Given the description of an element on the screen output the (x, y) to click on. 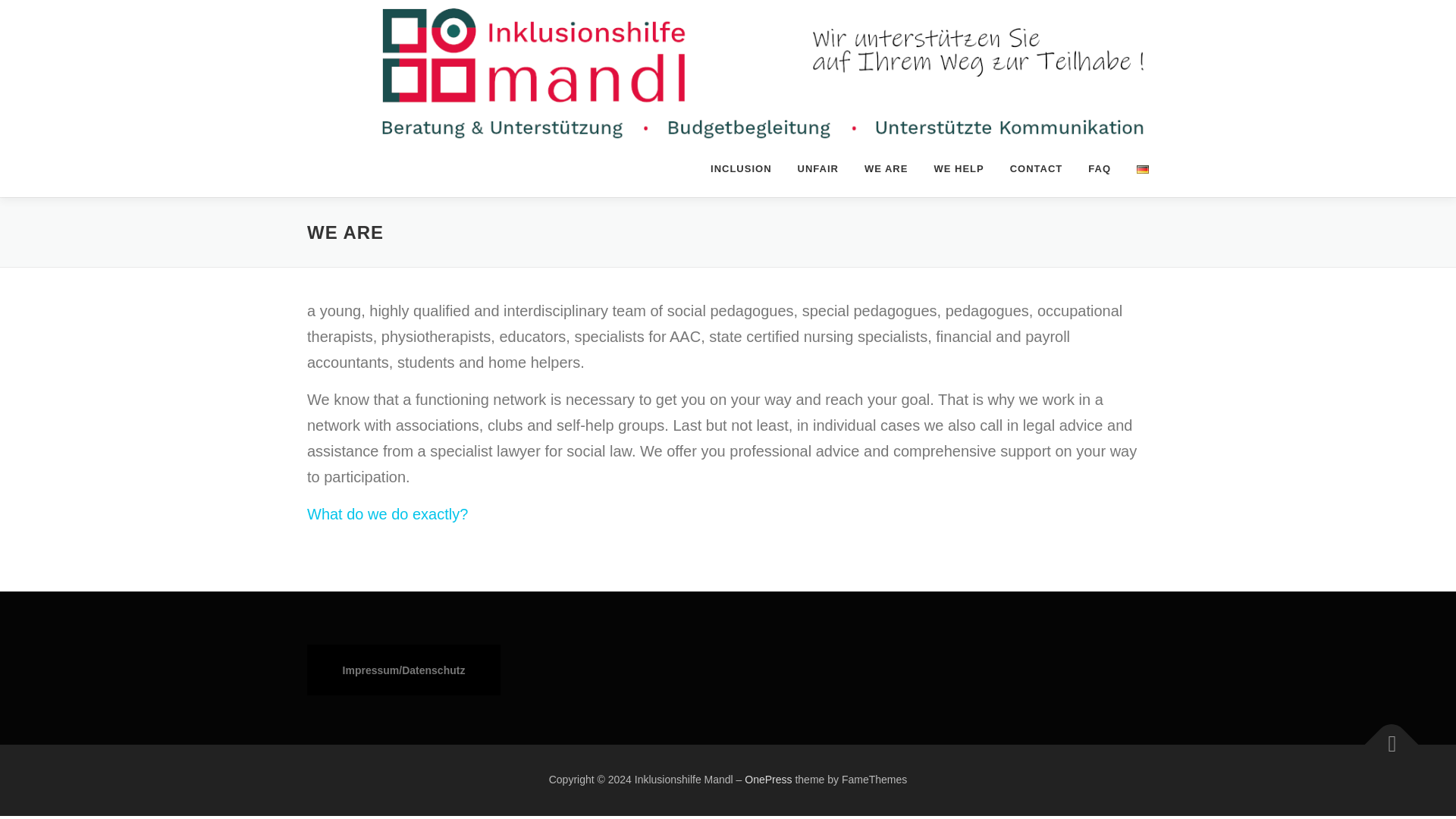
WE HELP (957, 168)
INCLUSION (740, 168)
What do we do exactly? (387, 514)
OnePress (768, 779)
UNFAIR (817, 168)
Back To Top (1384, 736)
WE ARE (886, 168)
CONTACT (1036, 168)
